Given the description of an element on the screen output the (x, y) to click on. 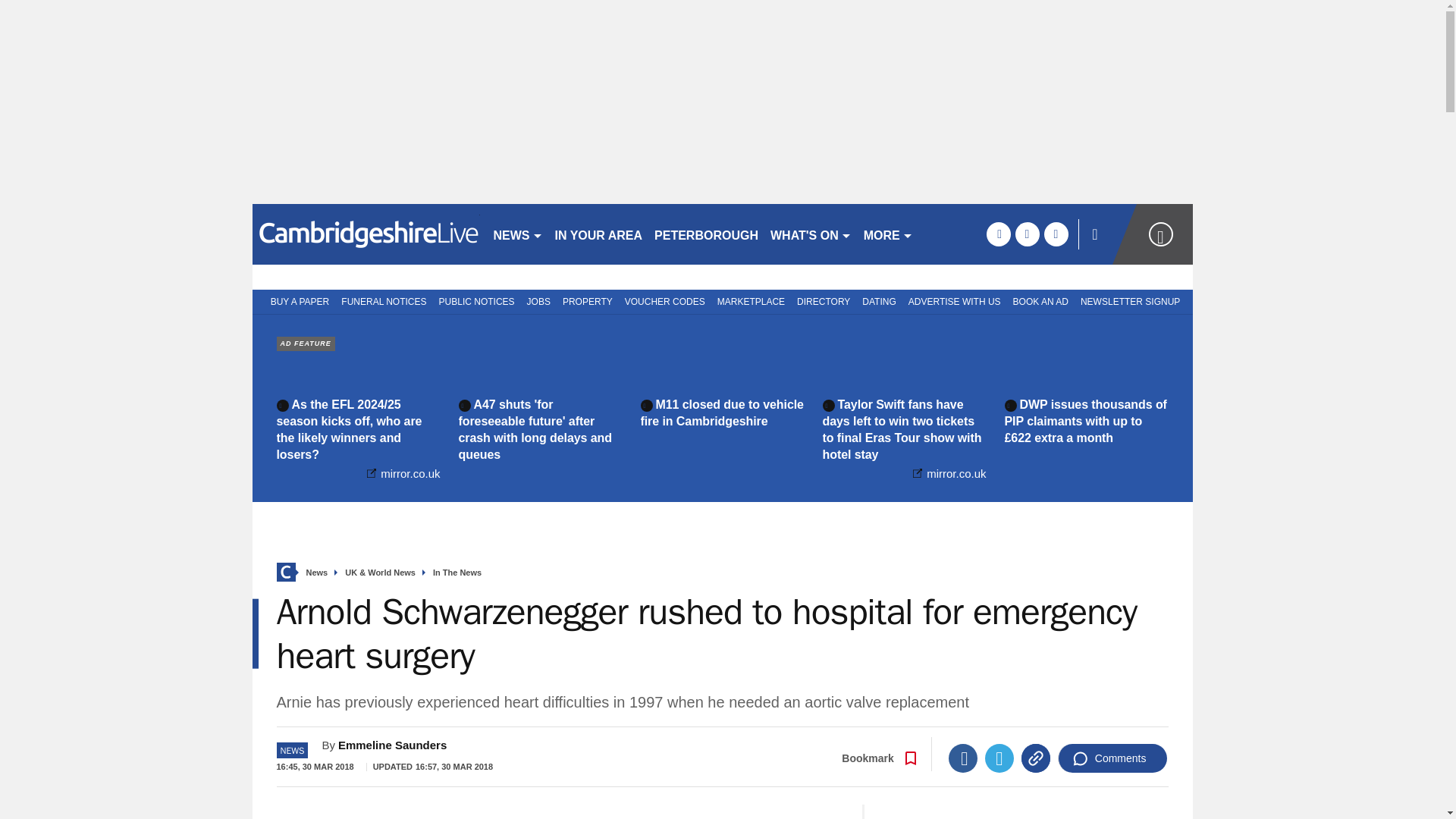
facebook (997, 233)
Facebook (962, 758)
IN YOUR AREA (598, 233)
cambridgenews (365, 233)
NEWS (517, 233)
Comments (1112, 758)
twitter (1026, 233)
instagram (1055, 233)
WHAT'S ON (810, 233)
MORE (887, 233)
